Given the description of an element on the screen output the (x, y) to click on. 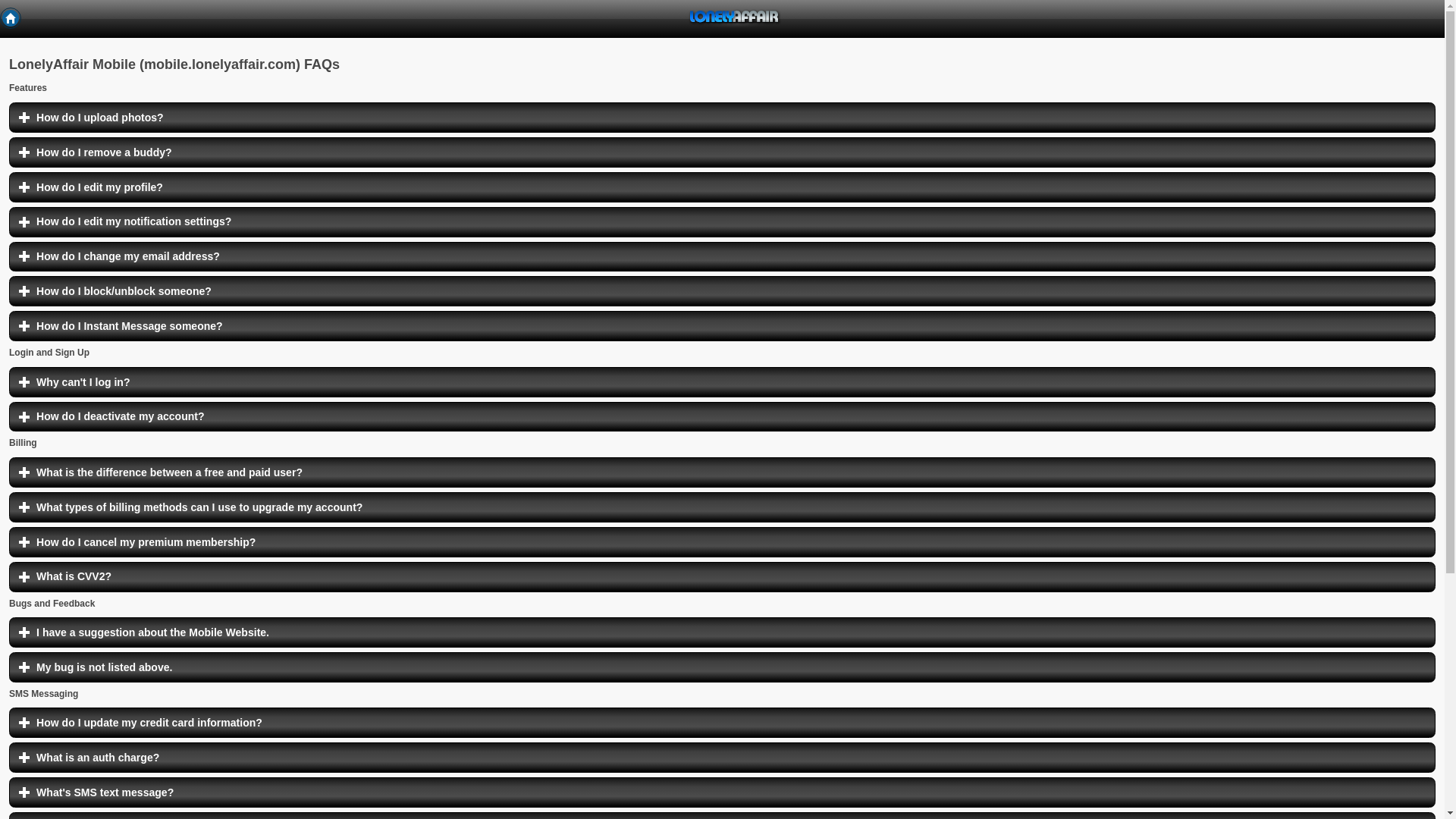
LonelyAffair Home (721, 381)
LonelyAffair Mobile (721, 417)
